Given the description of an element on the screen output the (x, y) to click on. 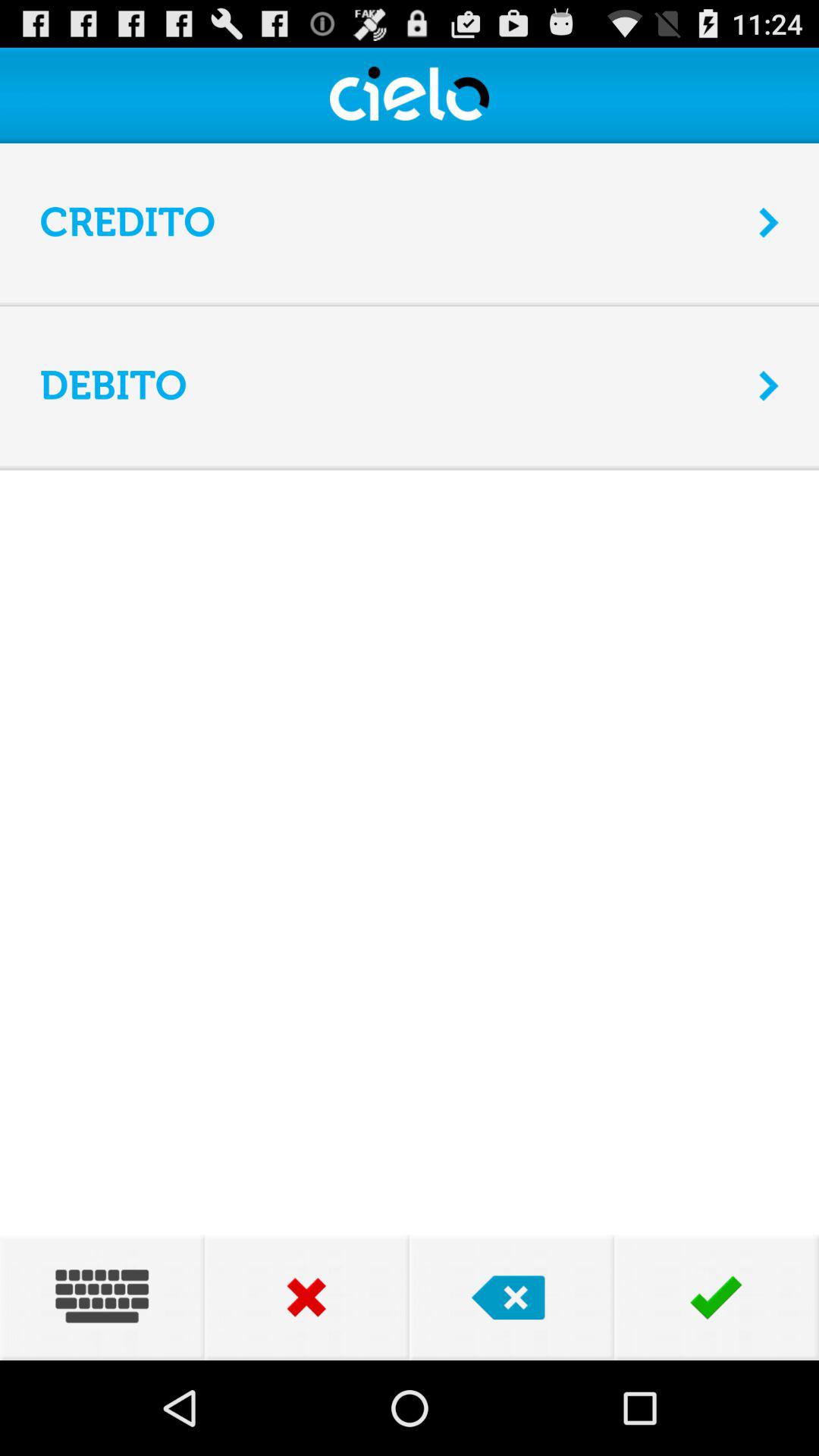
open the item next to credito item (769, 222)
